Given the description of an element on the screen output the (x, y) to click on. 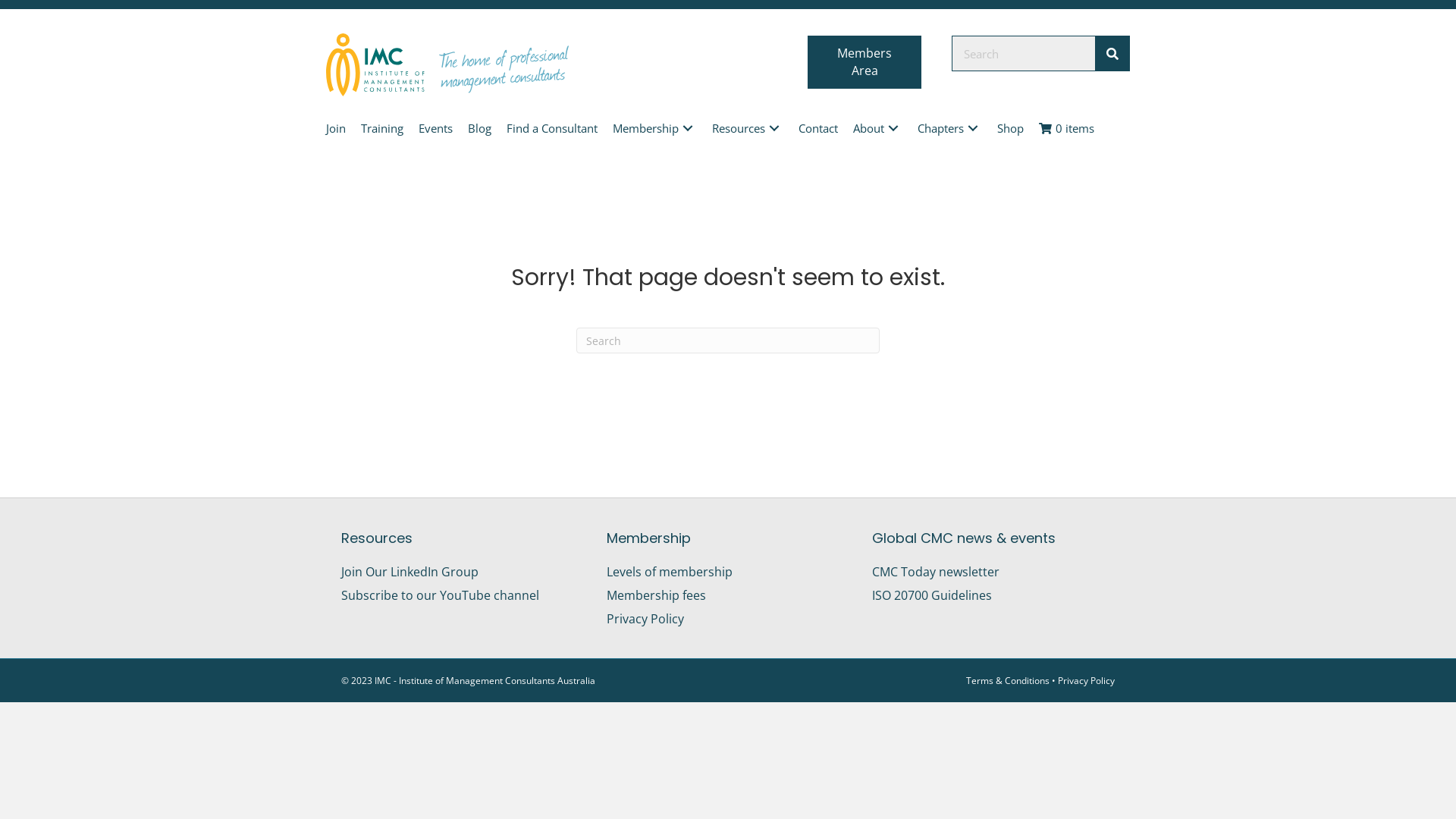
Find a Consultant Element type: text (551, 128)
Chapters Element type: text (949, 128)
Blog Element type: text (479, 128)
ISO 20700 Guidelines Element type: text (931, 594)
About Element type: text (877, 128)
Terms & Conditions Element type: text (1007, 680)
Join Element type: text (335, 128)
Contact Element type: text (817, 128)
Subscribe to our YouTube channel Element type: text (440, 594)
Type and press Enter to search. Element type: hover (727, 340)
Privacy Policy Element type: text (645, 618)
Events Element type: text (435, 128)
Join Our LinkedIn Group Element type: text (409, 570)
Training Element type: text (382, 128)
Membership fees Element type: text (656, 594)
logo-desktop Element type: hover (447, 64)
Search Element type: hover (1023, 53)
Members Area Element type: text (864, 61)
0 items Element type: text (1066, 128)
Levels of membership Element type: text (669, 570)
CMC Today newsletter Element type: text (935, 570)
Membership Element type: text (654, 128)
Shop Element type: text (1010, 128)
Resources Element type: text (747, 128)
Privacy Policy Element type: text (1085, 680)
